Given the description of an element on the screen output the (x, y) to click on. 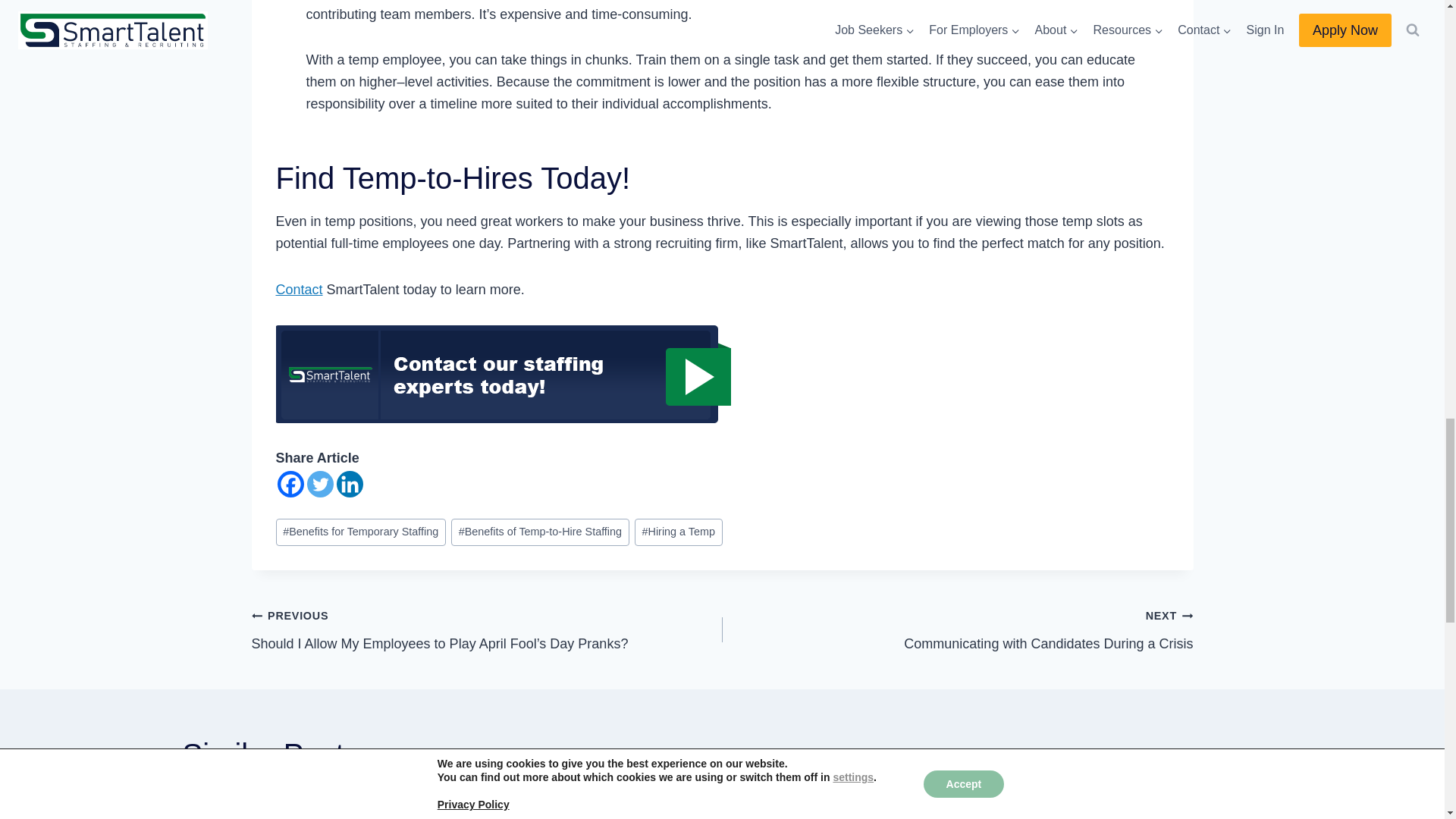
Benefits for Temporary Staffing (360, 532)
Facebook (291, 483)
Benefits of Temp-to-Hire Staffing (539, 532)
Twitter (319, 483)
Hiring a Temp (678, 532)
Linkedin (349, 483)
